Given the description of an element on the screen output the (x, y) to click on. 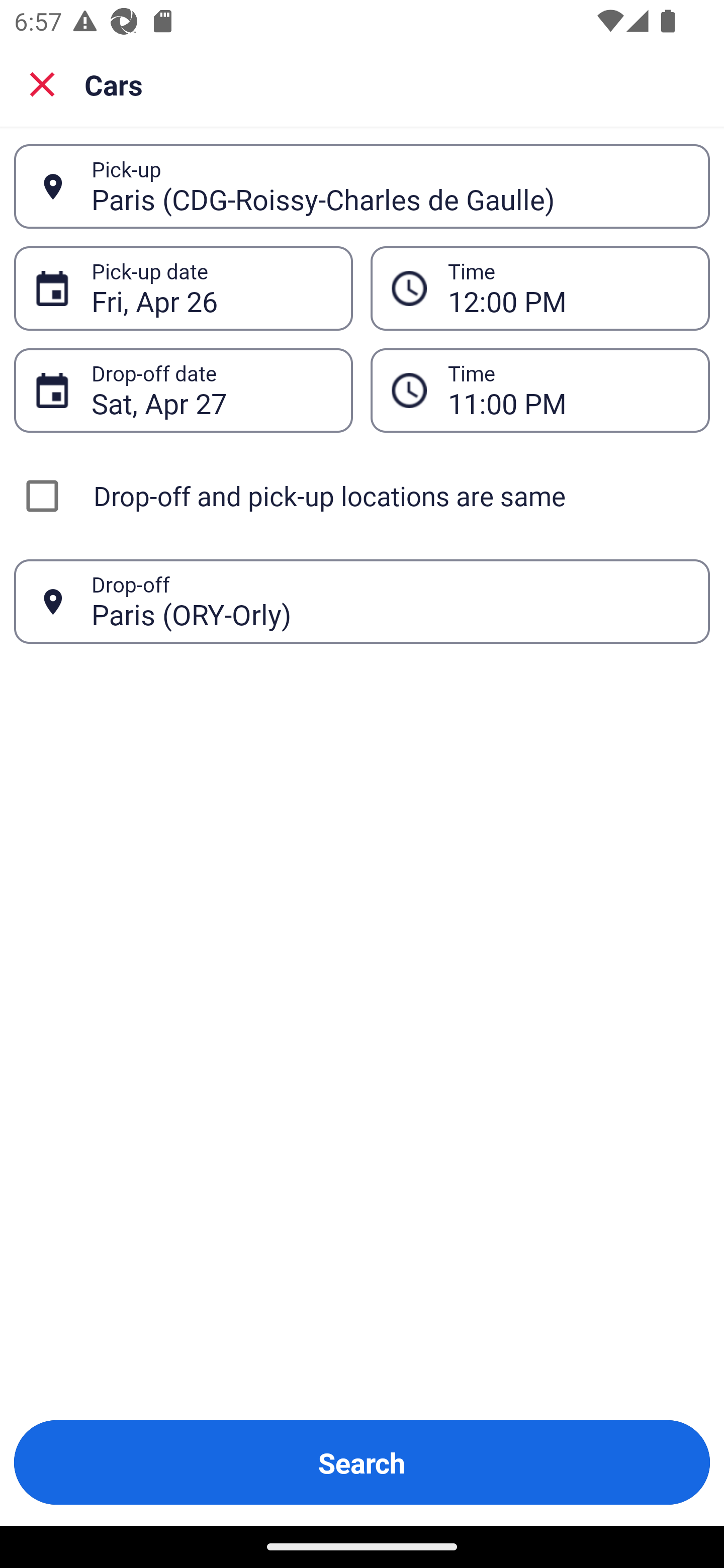
Close search screen (41, 83)
Paris (CDG-Roissy-Charles de Gaulle) Pick-up (361, 186)
Paris (CDG-Roissy-Charles de Gaulle) (389, 186)
Fri, Apr 26 Pick-up date (183, 288)
12:00 PM (540, 288)
Fri, Apr 26 (211, 288)
12:00 PM (568, 288)
Sat, Apr 27 Drop-off date (183, 390)
11:00 PM (540, 390)
Sat, Apr 27 (211, 390)
11:00 PM (568, 390)
Drop-off and pick-up locations are same (361, 495)
Paris (ORY-Orly) Drop-off (361, 601)
Paris (ORY-Orly) (389, 601)
Search Button Search (361, 1462)
